Given the description of an element on the screen output the (x, y) to click on. 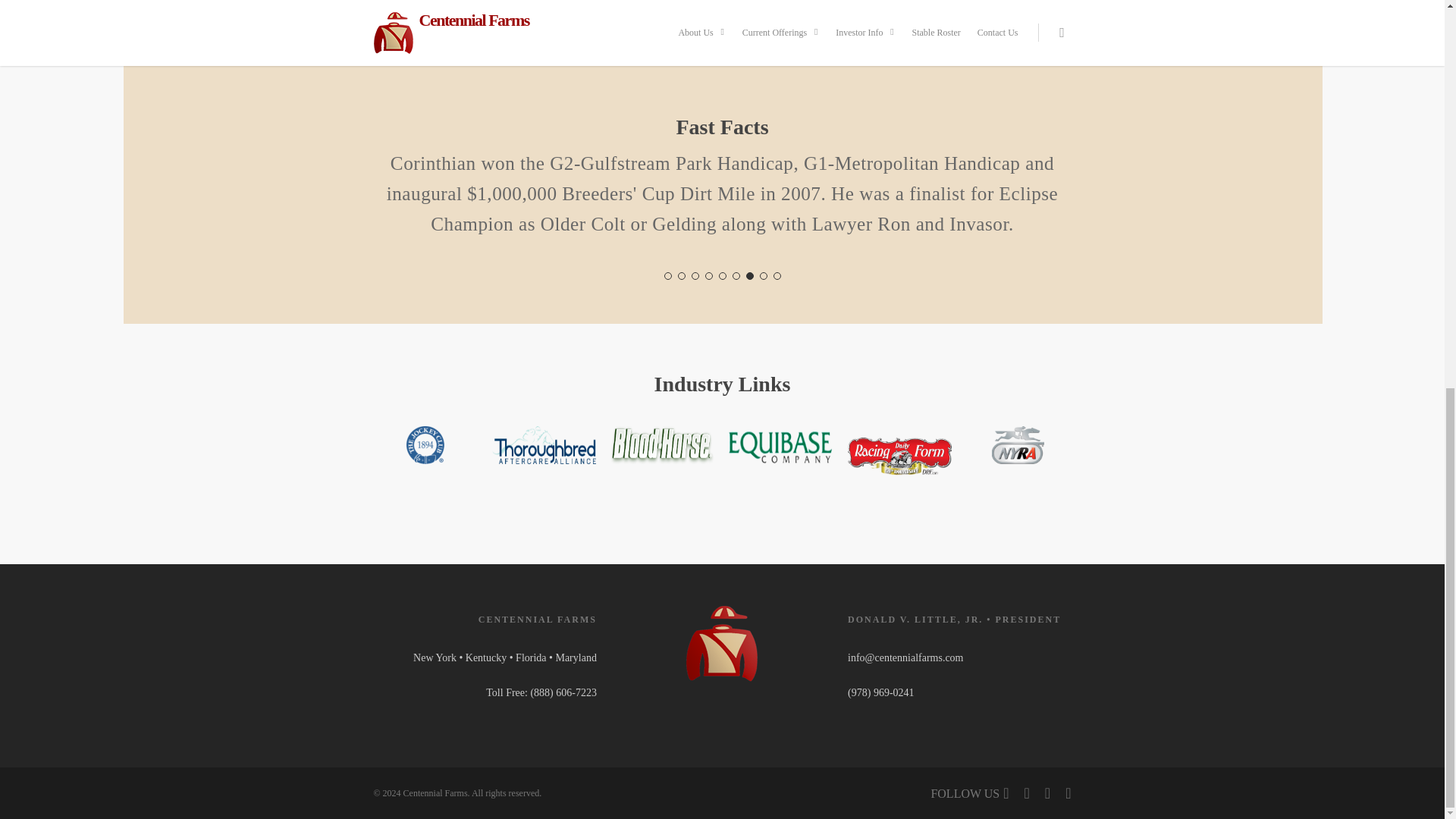
Stable Stars (989, 11)
Latest News (455, 11)
Get Involved (632, 11)
Centennial Gear (810, 11)
